Given the description of an element on the screen output the (x, y) to click on. 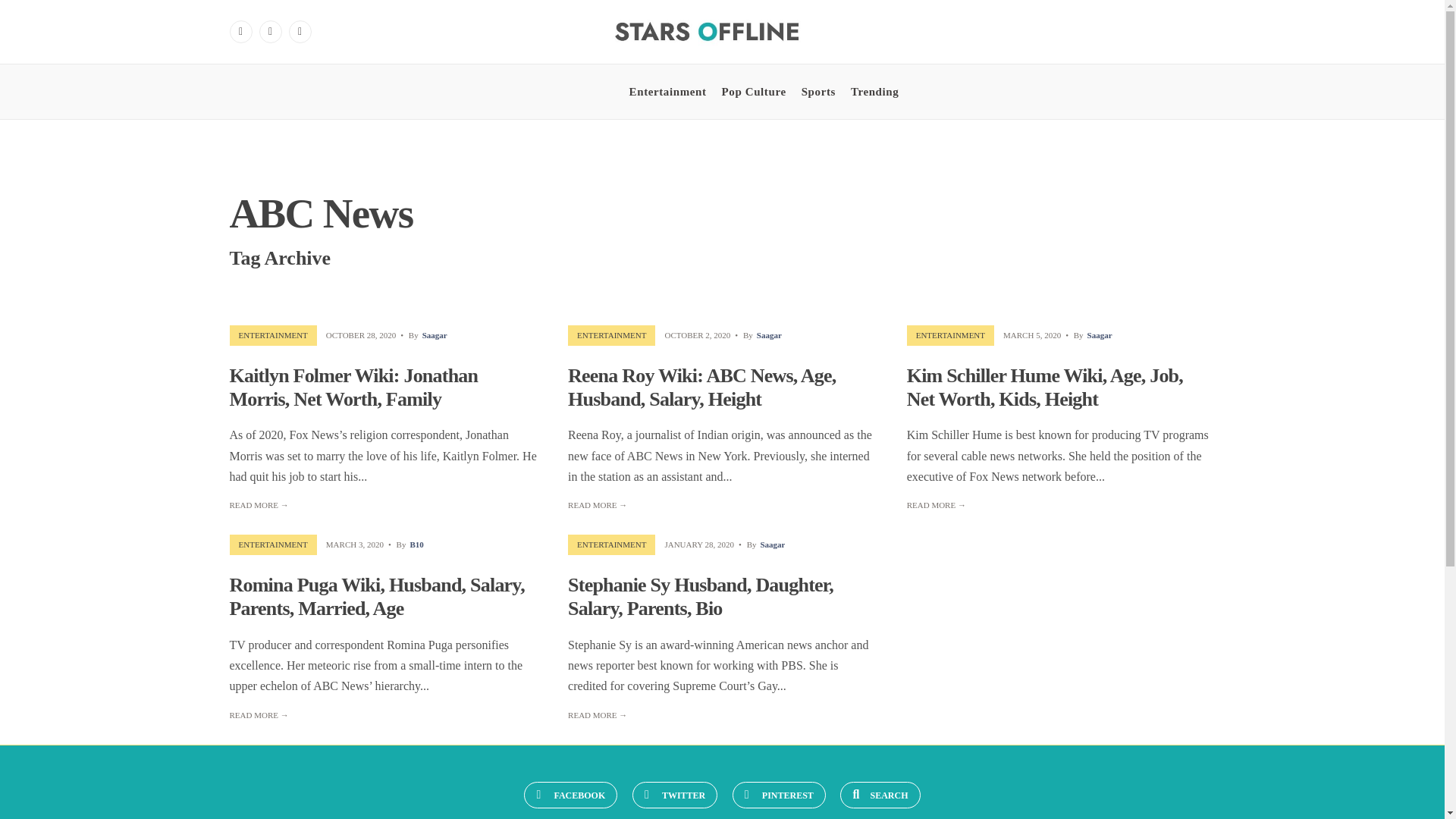
Posts by Saagar (769, 334)
PINTEREST (778, 795)
Saagar (772, 543)
Pinterest (299, 31)
Kim Schiller Hume Wiki, Age, Job, Net Worth, Kids, Height (1044, 387)
Posts by B10 (416, 543)
ENTERTAINMENT (272, 543)
Saagar (1099, 334)
Romina Puga Wiki, Husband, Salary, Parents, Married, Age (376, 596)
ENTERTAINMENT (950, 334)
Entertainment (667, 91)
FACEBOOK (570, 795)
ENTERTAINMENT (611, 334)
Posts by Saagar (1099, 334)
Stephanie Sy Husband, Daughter, Salary, Parents, Bio (699, 596)
